Given the description of an element on the screen output the (x, y) to click on. 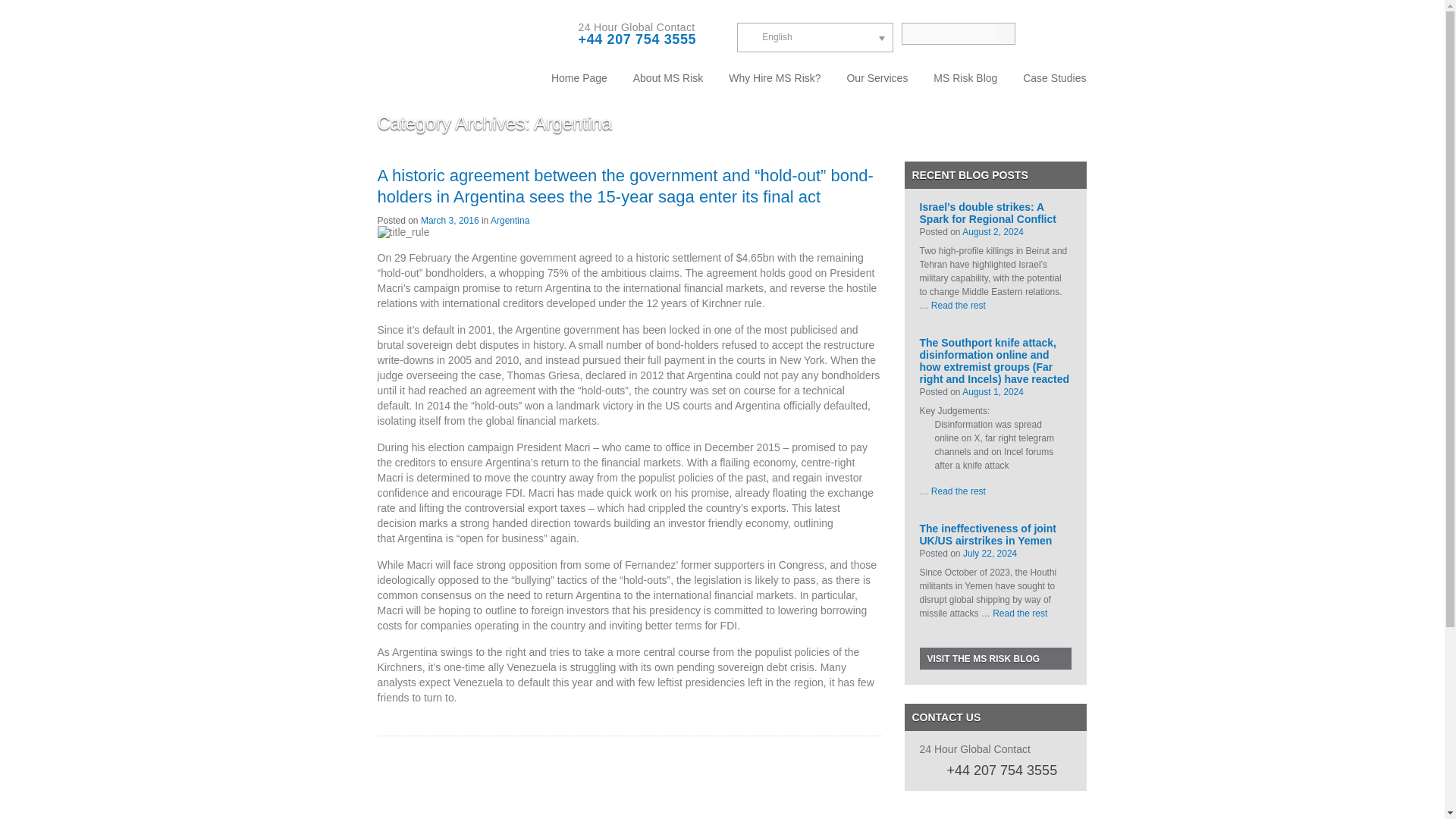
Our Services (876, 77)
August 2, 2024 (992, 231)
Login (1050, 33)
Read the rest (958, 491)
MS Risk Blog (965, 77)
Read the rest (958, 305)
August 1, 2024 (992, 391)
Search (1003, 33)
10:23 pm (992, 231)
About MS Risk (667, 77)
